Given the description of an element on the screen output the (x, y) to click on. 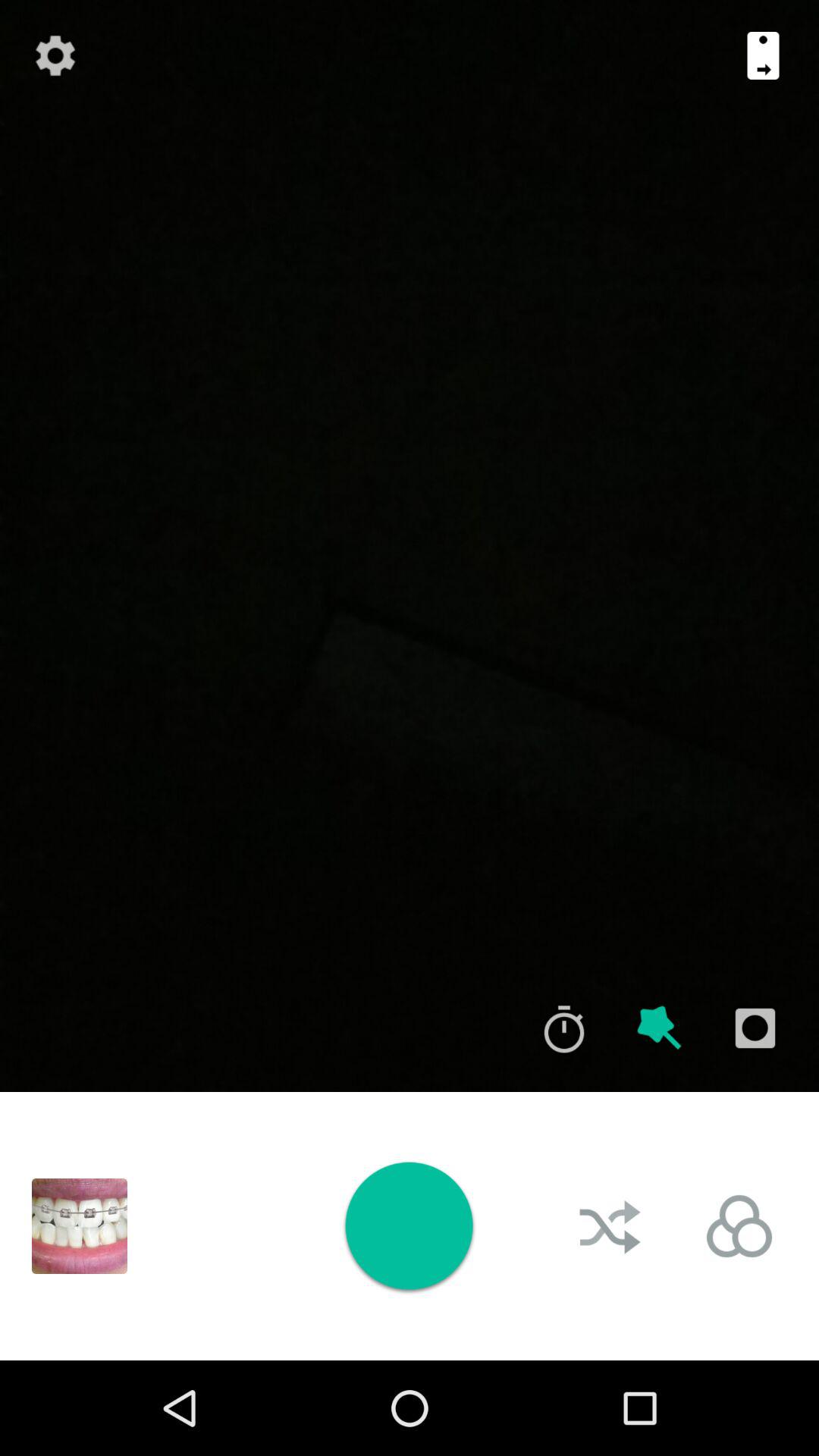
the icon represented to goto previous option or menu (763, 55)
